Given the description of an element on the screen output the (x, y) to click on. 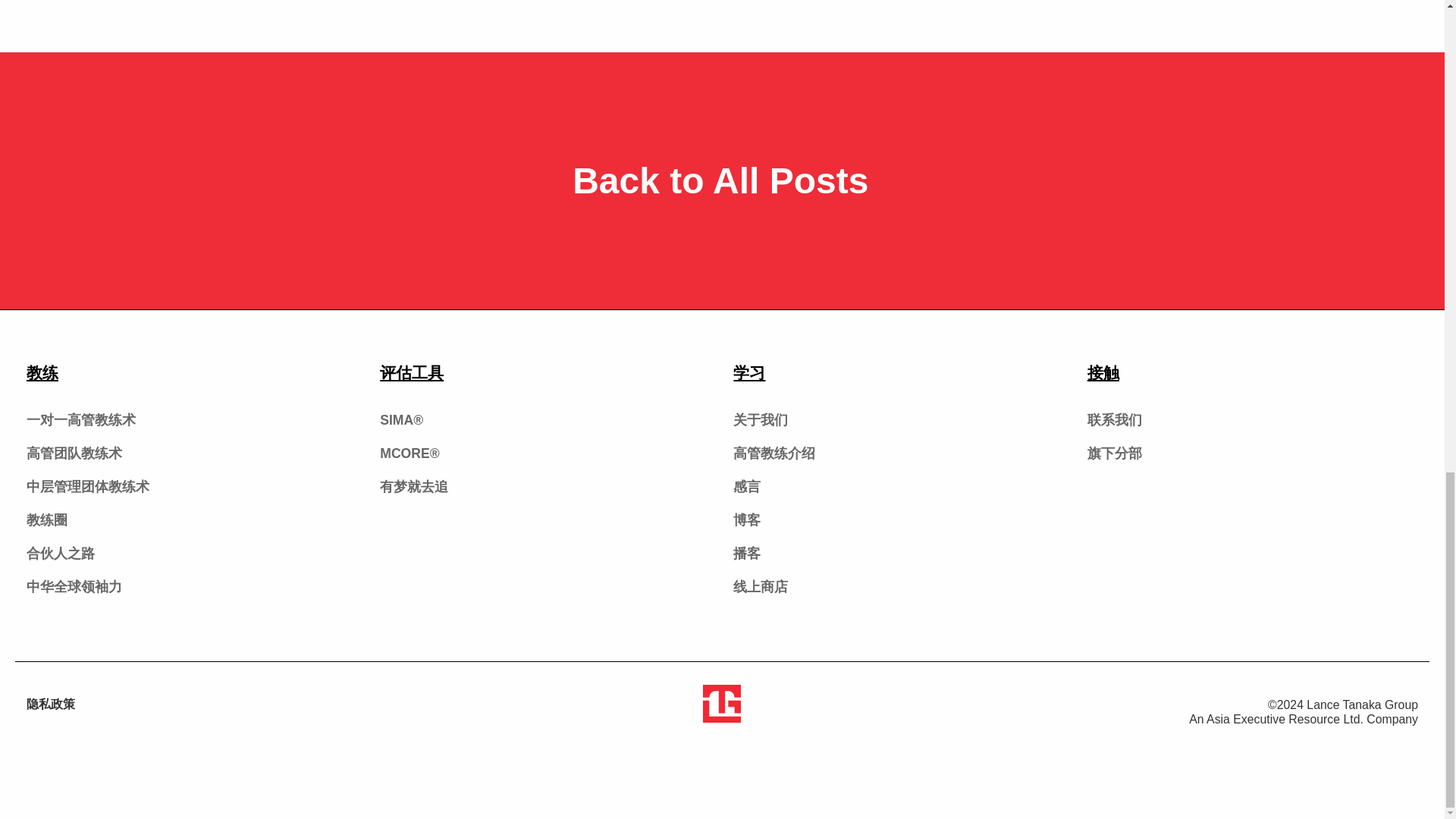
Back to All Posts (722, 180)
